Given the description of an element on the screen output the (x, y) to click on. 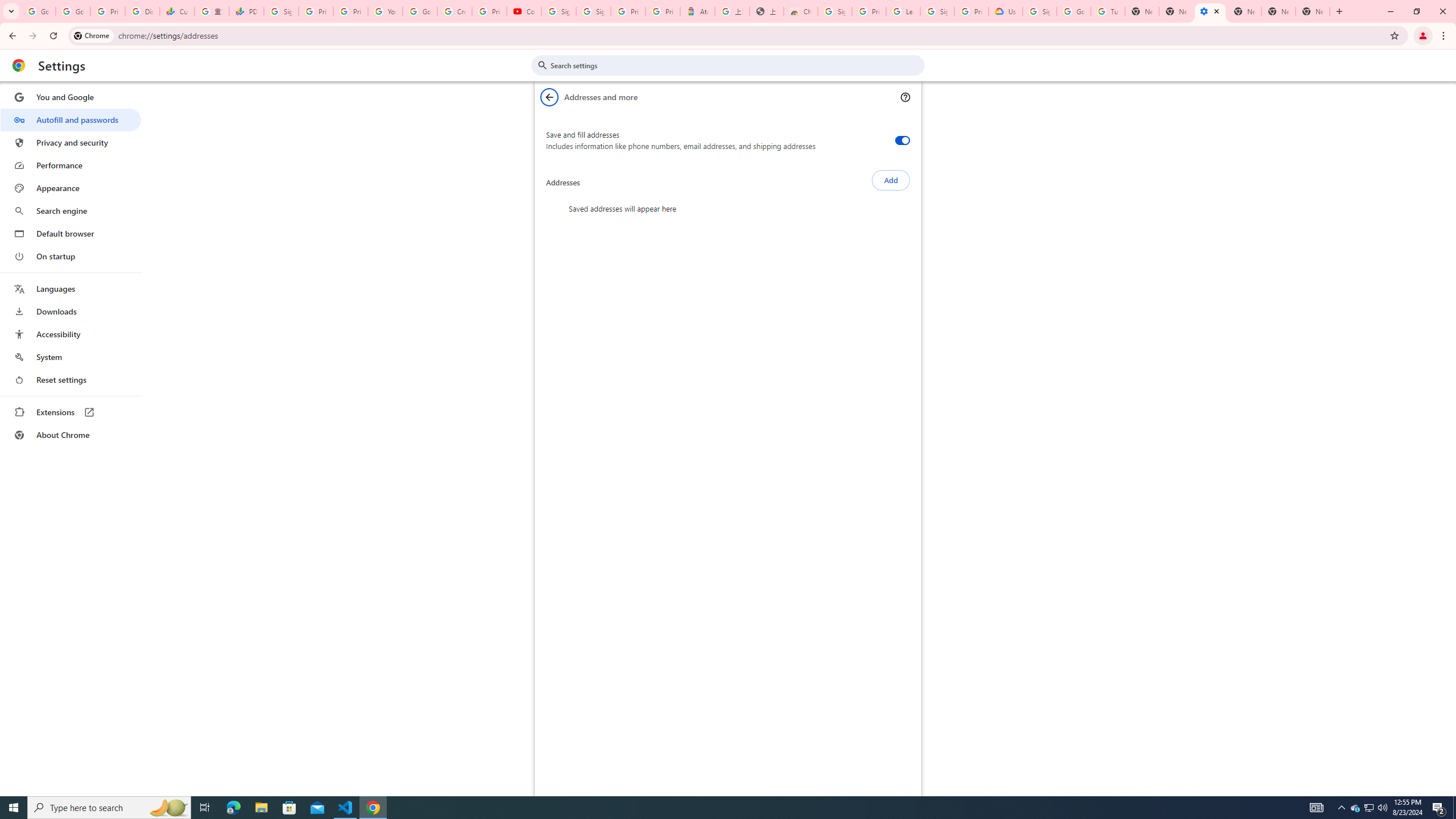
Google Workspace Admin Community (38, 11)
Sign in - Google Accounts (281, 11)
Reset settings (70, 379)
Sign in - Google Accounts (937, 11)
Sign in - Google Accounts (834, 11)
New Tab (1312, 11)
Sign in - Google Accounts (1039, 11)
Content Creator Programs & Opportunities - YouTube Creators (524, 11)
